Given the description of an element on the screen output the (x, y) to click on. 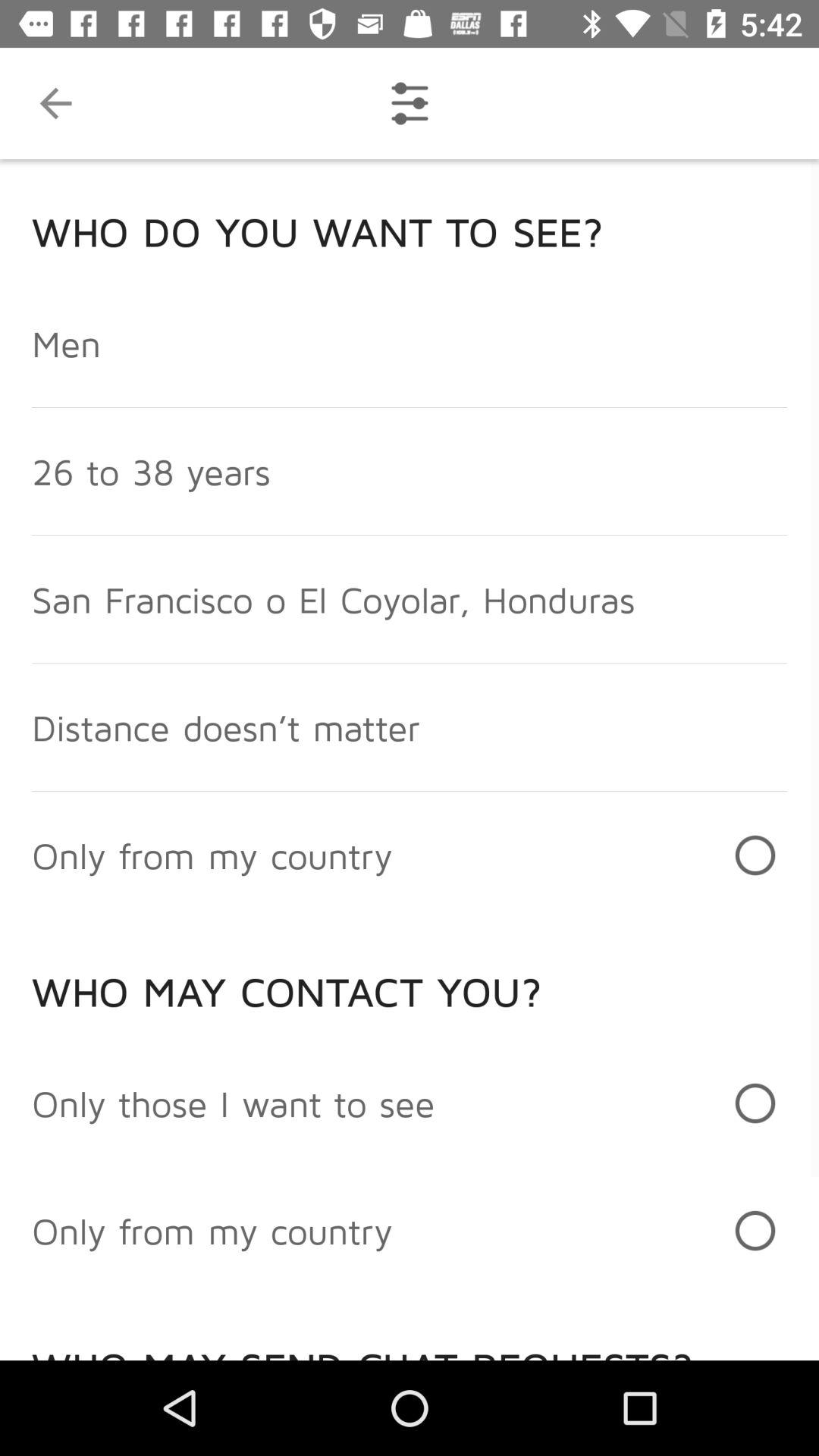
turn off the only those i (233, 1102)
